Given the description of an element on the screen output the (x, y) to click on. 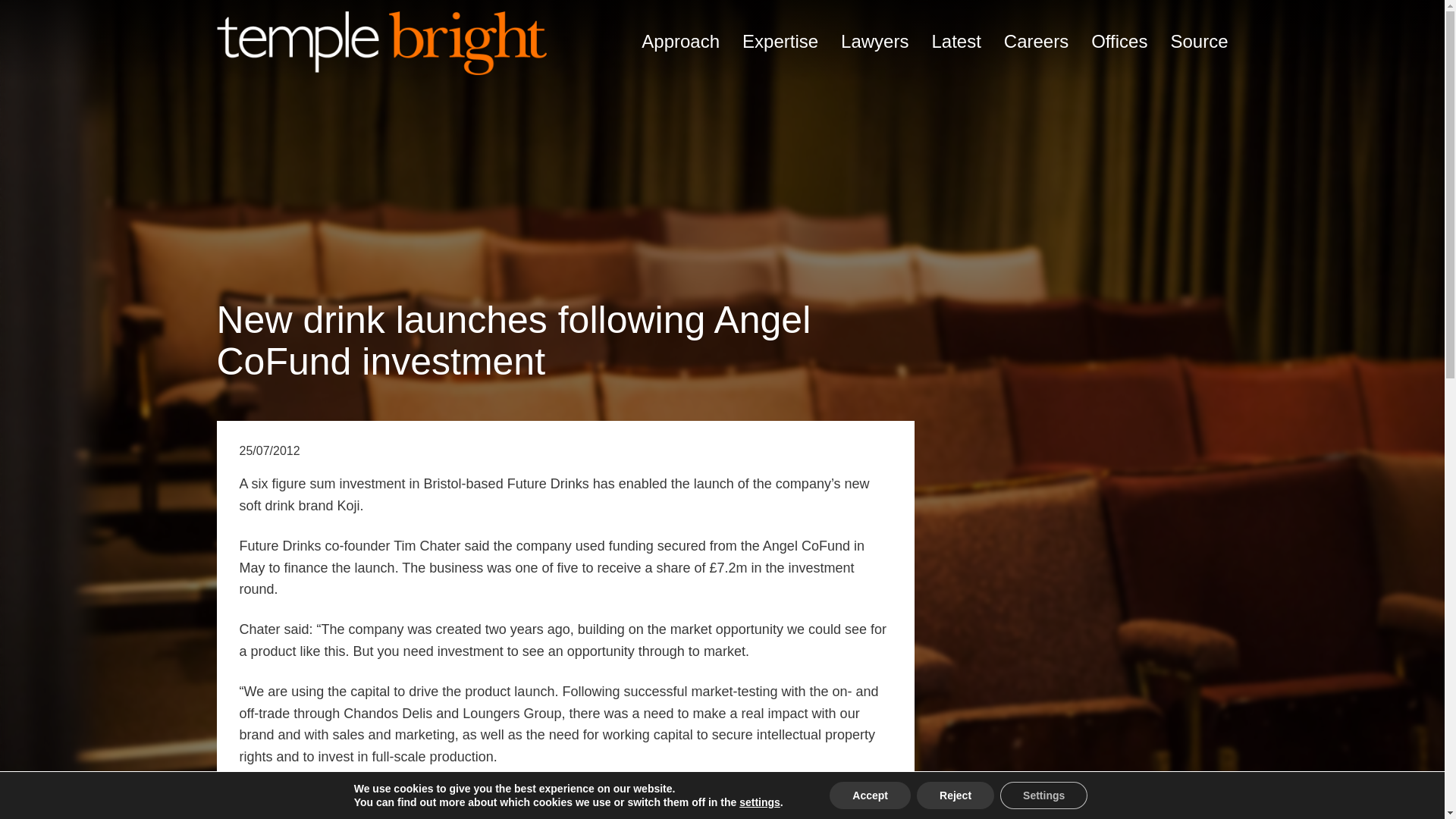
Accept (870, 795)
Source (1198, 41)
Search (1150, 527)
Search (1150, 527)
Complaints (936, 779)
Expertise (780, 41)
Temple Bright on Linkedin (1211, 607)
Temple Bright on X Twitter (1090, 607)
Sitemap (1099, 779)
Offices (1118, 41)
Search (1150, 527)
Lawyers (874, 41)
Careers (1036, 41)
Reject (955, 795)
settings (759, 802)
